Given the description of an element on the screen output the (x, y) to click on. 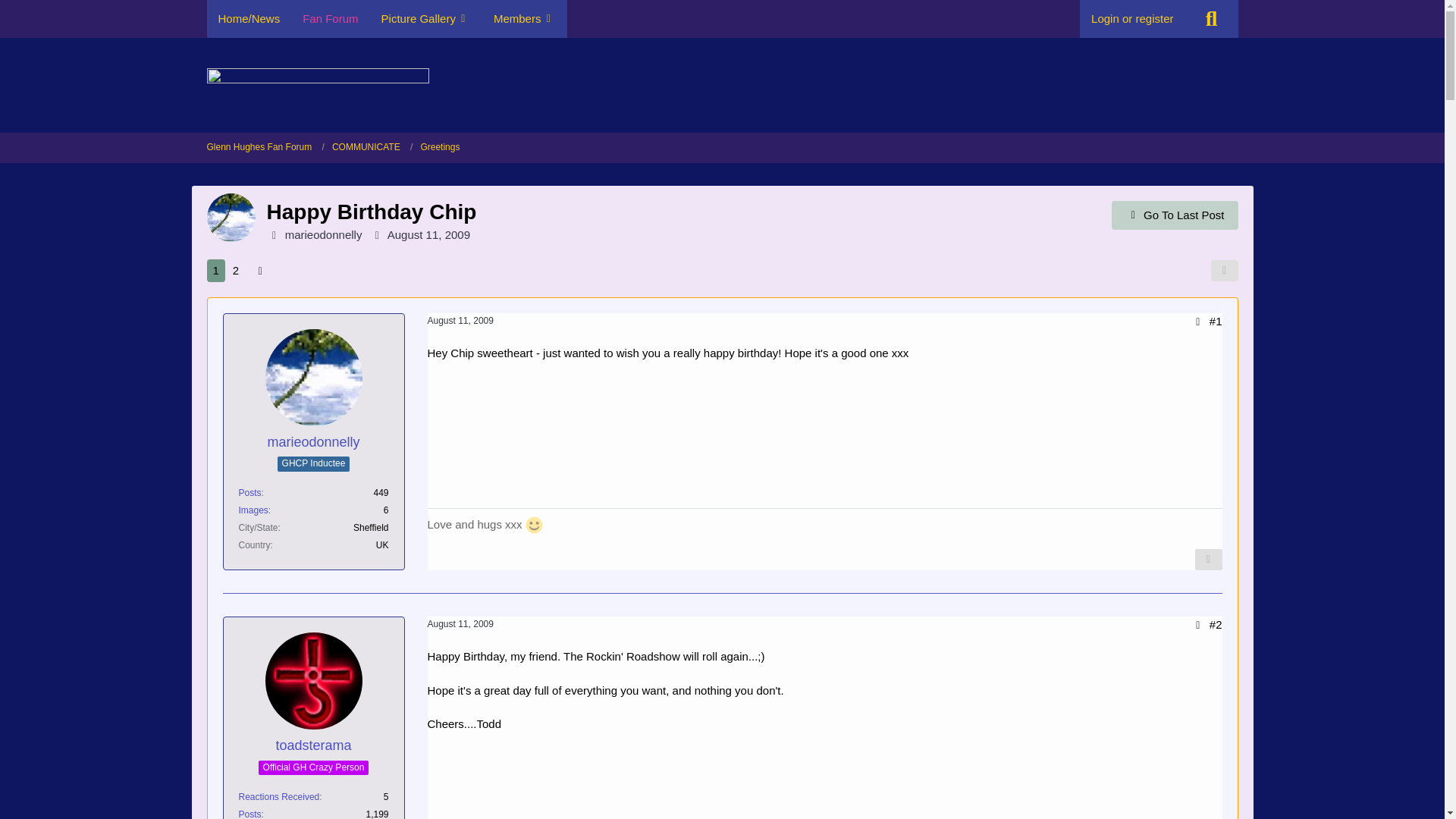
smile (534, 524)
COMMUNICATE (365, 147)
toadsterama (312, 745)
COMMUNICATE (371, 147)
Greetings (440, 147)
Reactions Received (278, 796)
Glenn Hughes Fan Forum (258, 147)
Jump to last post (1174, 215)
Images (252, 510)
marieodonnelly (312, 442)
August 11, 2009August 11, 2009 at 8:40 PM (460, 320)
Fan Forum (330, 18)
August 11, 2009August 11, 2009 at 8:40 PM (428, 234)
marieodonnelly (323, 234)
Posts (249, 814)
